Given the description of an element on the screen output the (x, y) to click on. 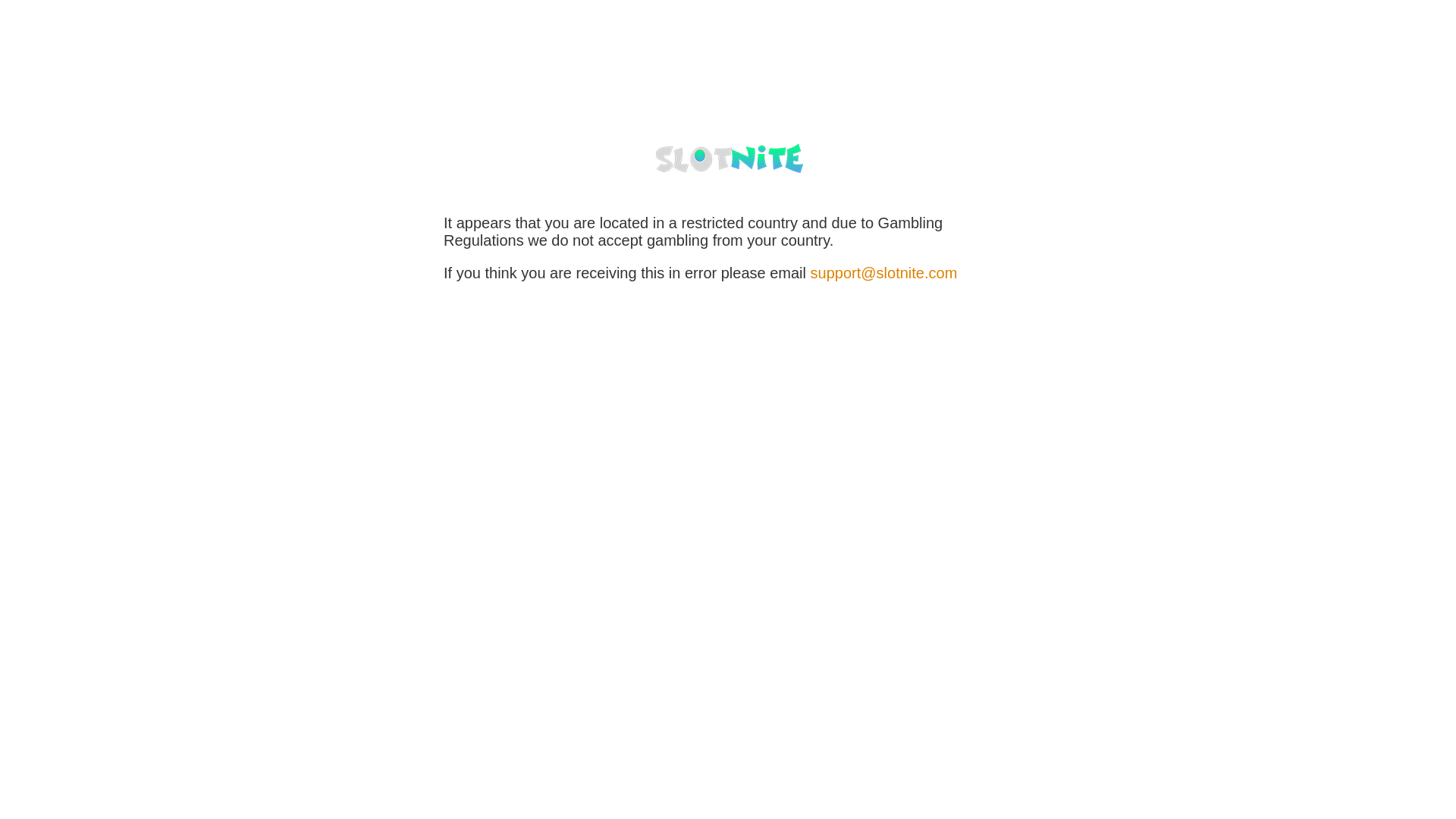
support@slotnite.com Element type: text (883, 272)
